Given the description of an element on the screen output the (x, y) to click on. 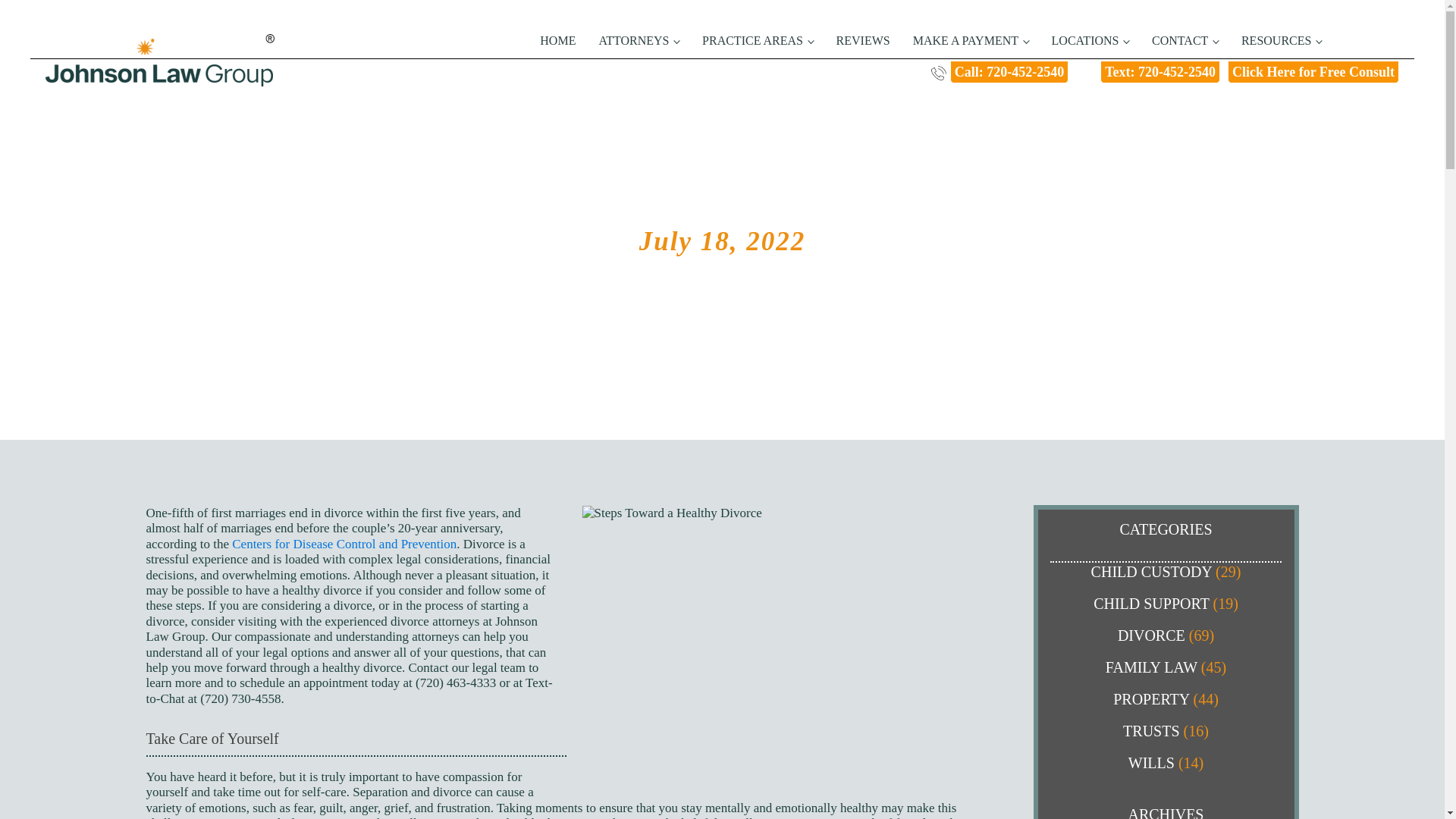
REVIEWS (859, 40)
ATTORNEYS (635, 40)
HOME (553, 40)
MAKE A PAYMENT (967, 40)
PRACTICE AREAS (754, 40)
LOCATIONS (1086, 40)
